Given the description of an element on the screen output the (x, y) to click on. 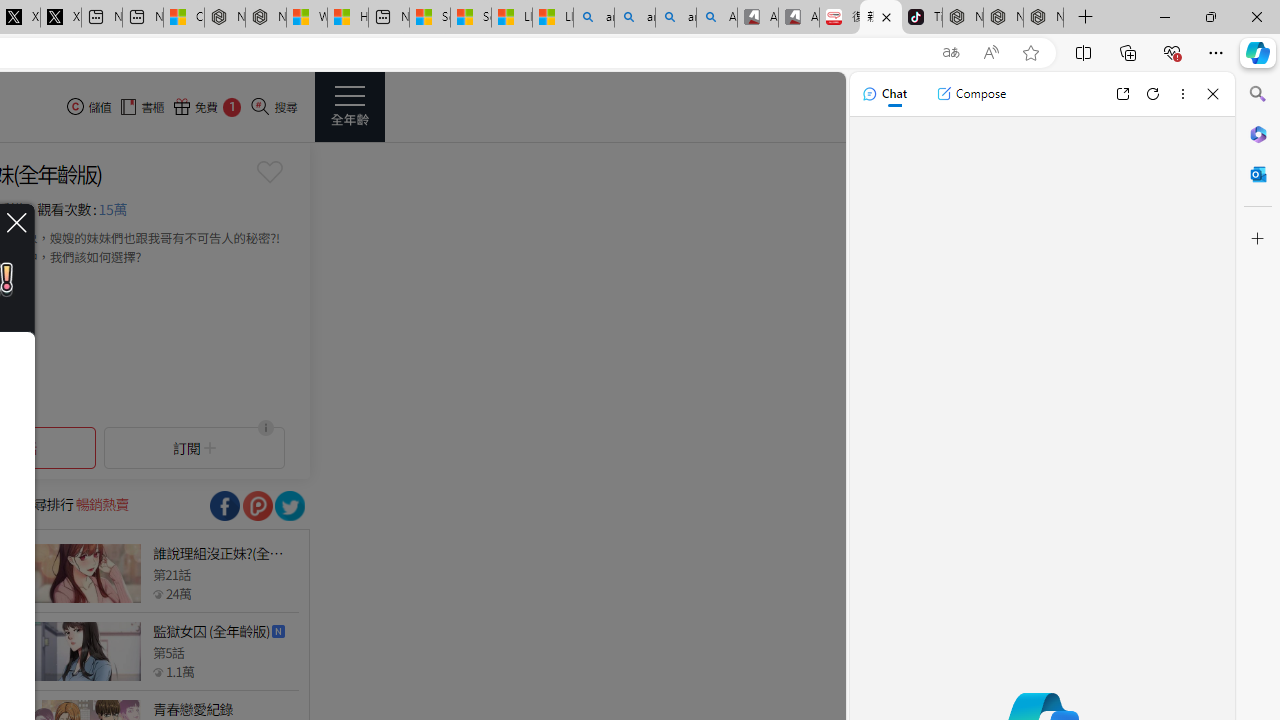
Microsoft 365 (1258, 133)
Show translate options (950, 53)
Huge shark washes ashore at New York City beach | Watch (347, 17)
Compose (971, 93)
Amazon Echo Robot - Search Images (717, 17)
Class: socialShare (289, 506)
amazon - Search (634, 17)
Outlook (1258, 174)
